Given the description of an element on the screen output the (x, y) to click on. 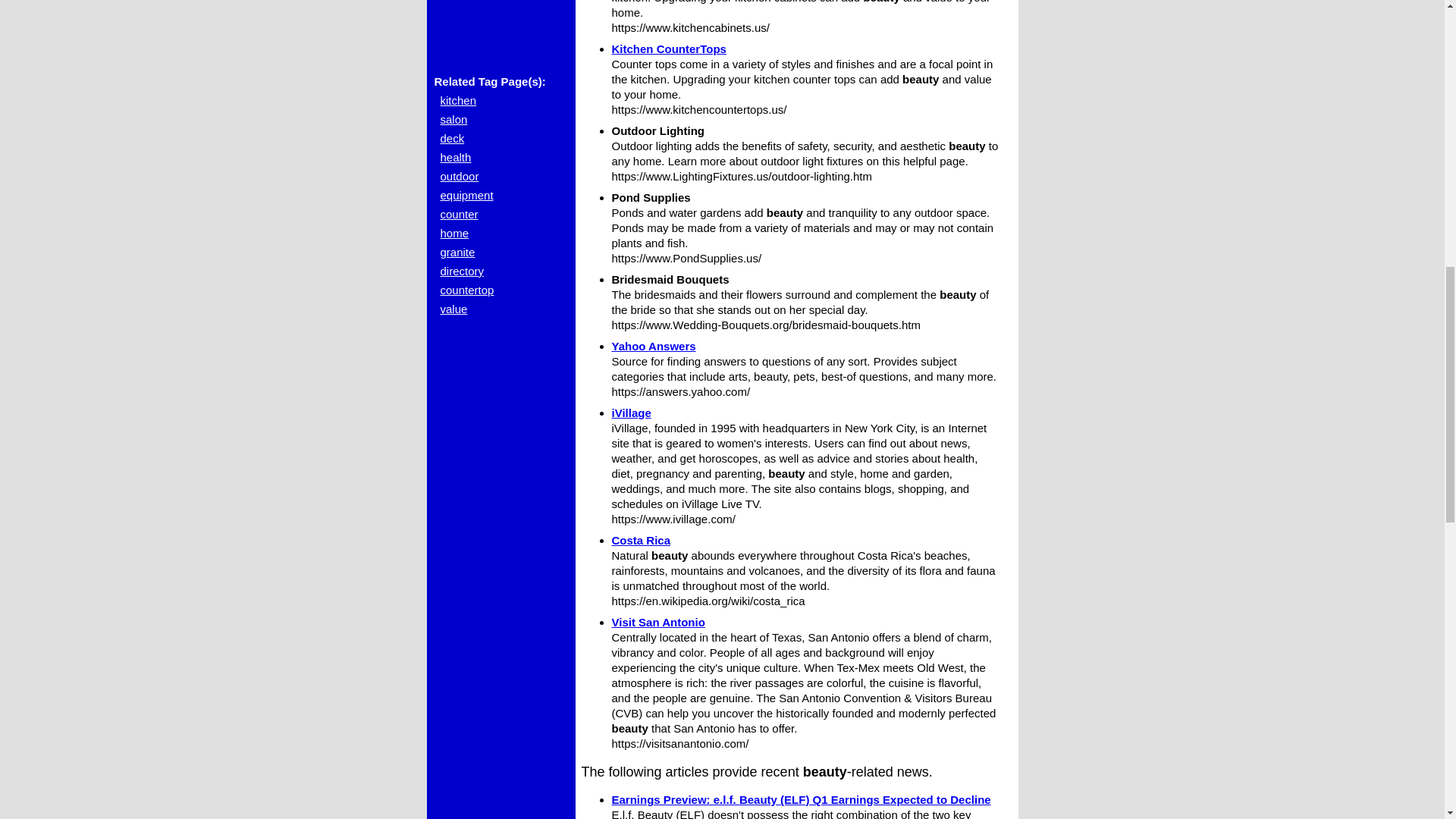
iVillage (630, 412)
Yahoo Answers (653, 345)
Kitchen CounterTops (668, 48)
Visit San Antonio (657, 621)
Costa Rica (640, 540)
